Given the description of an element on the screen output the (x, y) to click on. 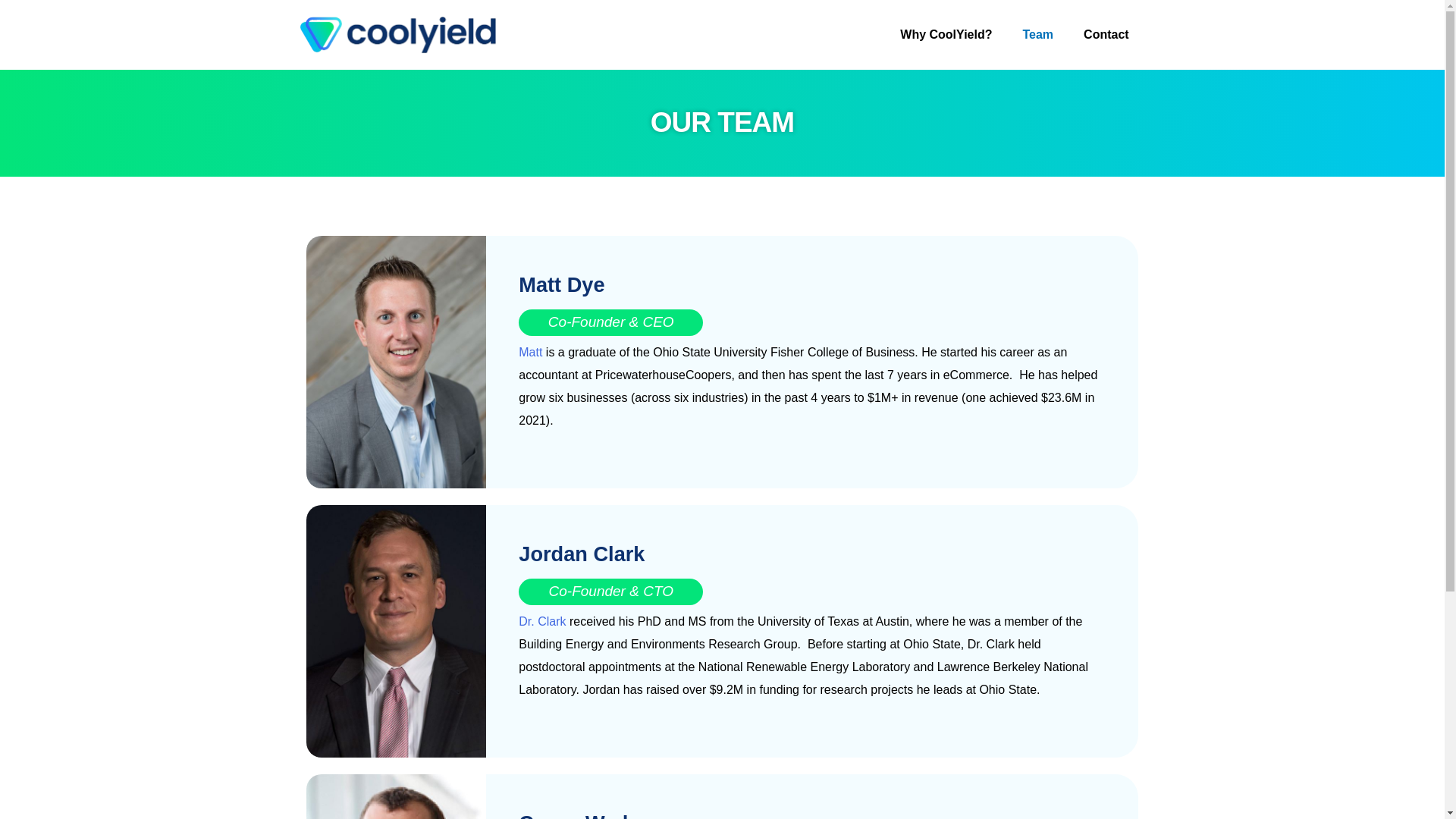
Contact (1106, 34)
Matt (529, 351)
Team (1037, 34)
Dr. Clark (542, 621)
Why CoolYield? (946, 34)
